Given the description of an element on the screen output the (x, y) to click on. 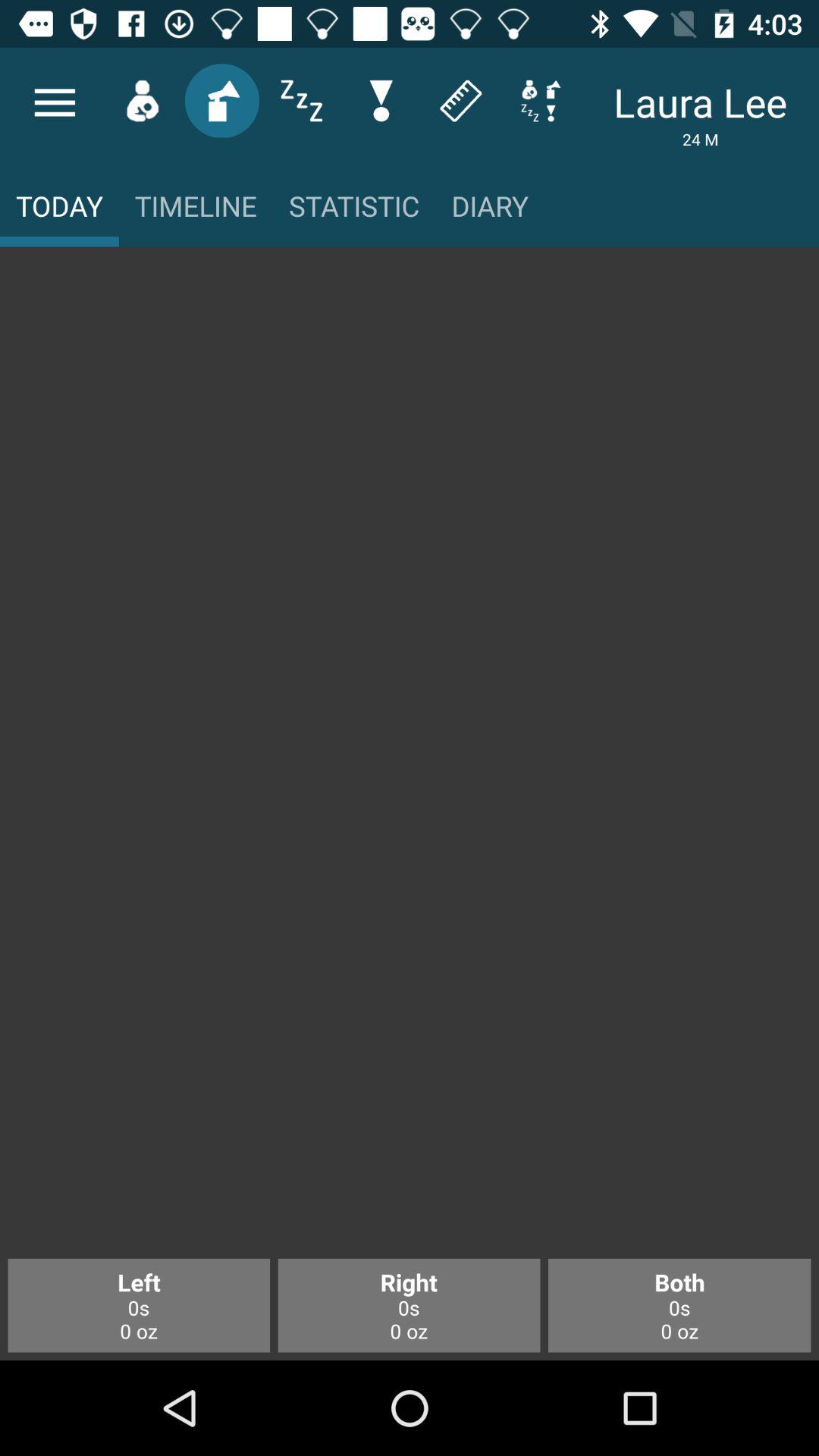
open the item above left 0s 0 item (409, 760)
